Given the description of an element on the screen output the (x, y) to click on. 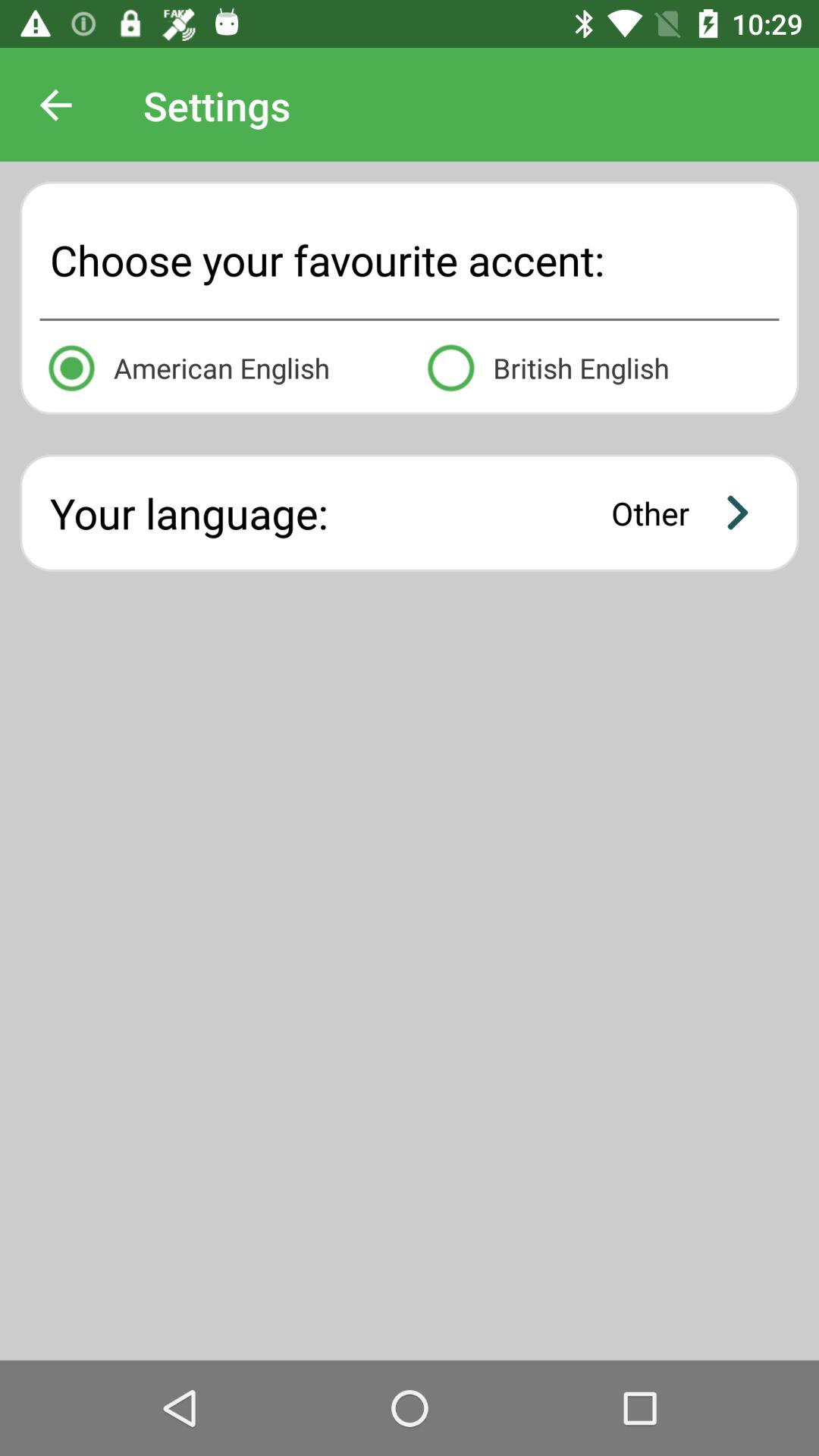
jump until british english icon (599, 365)
